Given the description of an element on the screen output the (x, y) to click on. 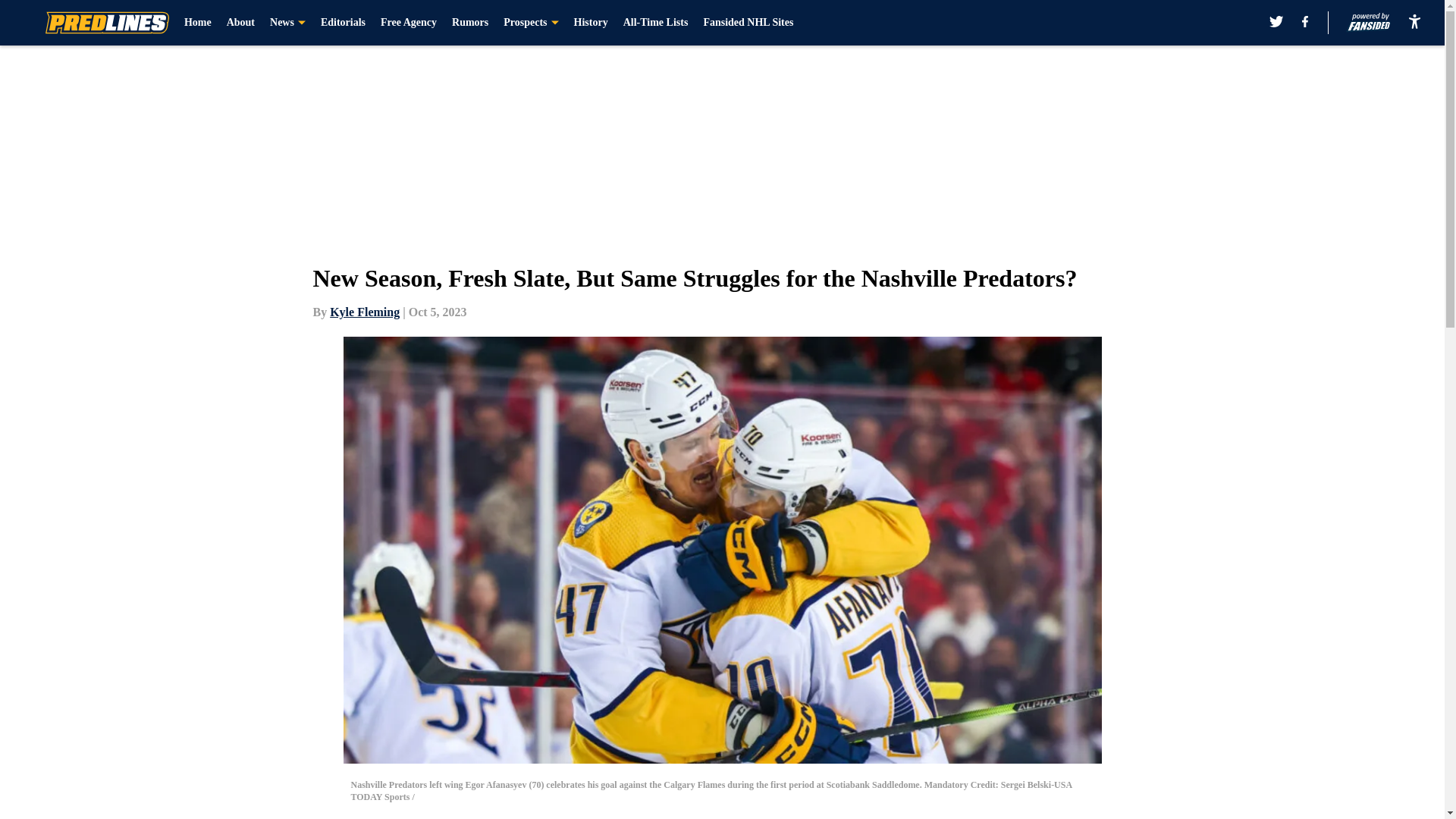
Free Agency (408, 22)
Home (197, 22)
History (590, 22)
Rumors (469, 22)
Editorials (342, 22)
All-Time Lists (655, 22)
About (240, 22)
Kyle Fleming (364, 311)
Fansided NHL Sites (748, 22)
